Given the description of an element on the screen output the (x, y) to click on. 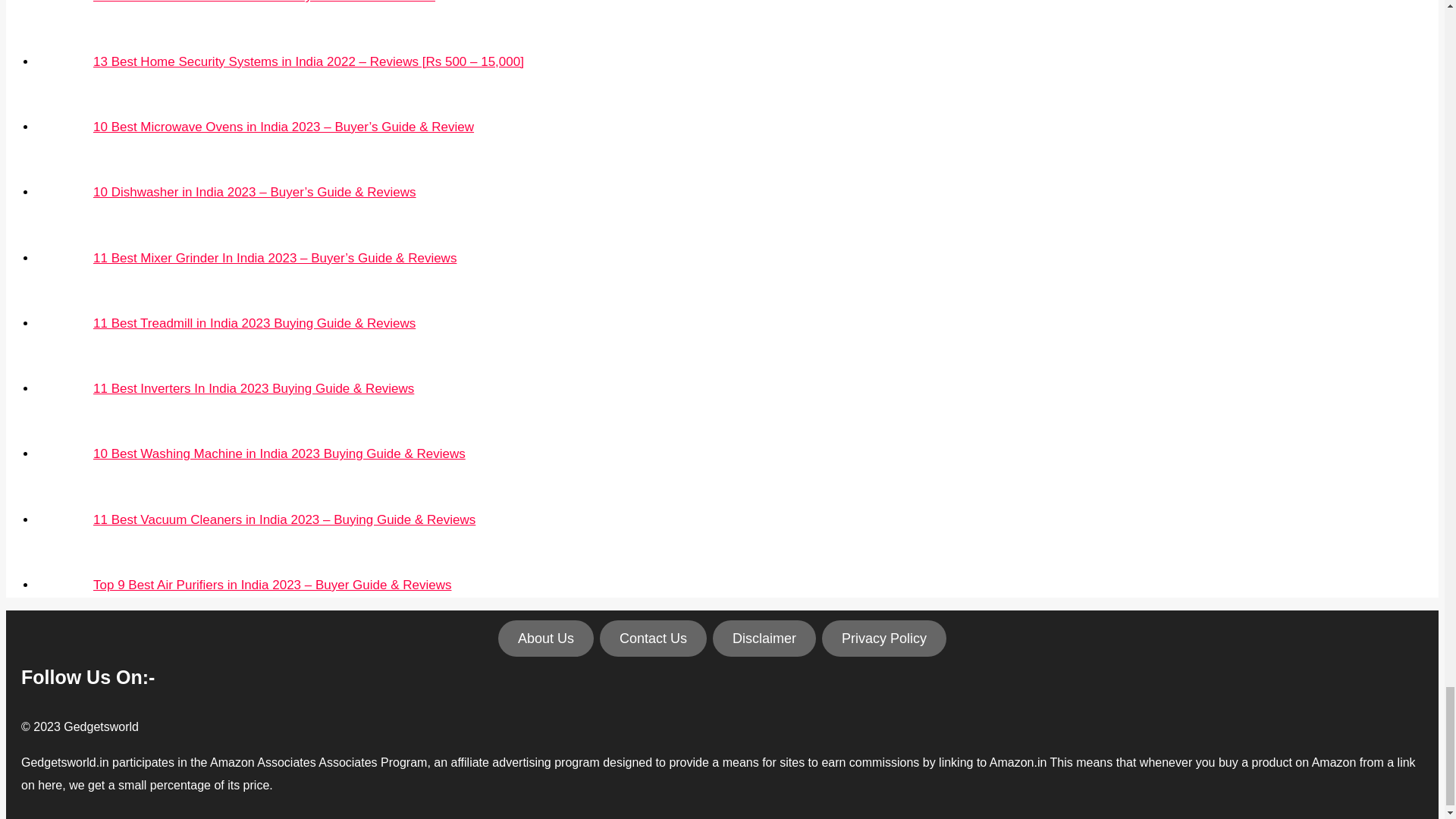
Privacy Policy (884, 637)
Disclaimer (764, 637)
Contact Us (652, 637)
About Us (545, 637)
